Given the description of an element on the screen output the (x, y) to click on. 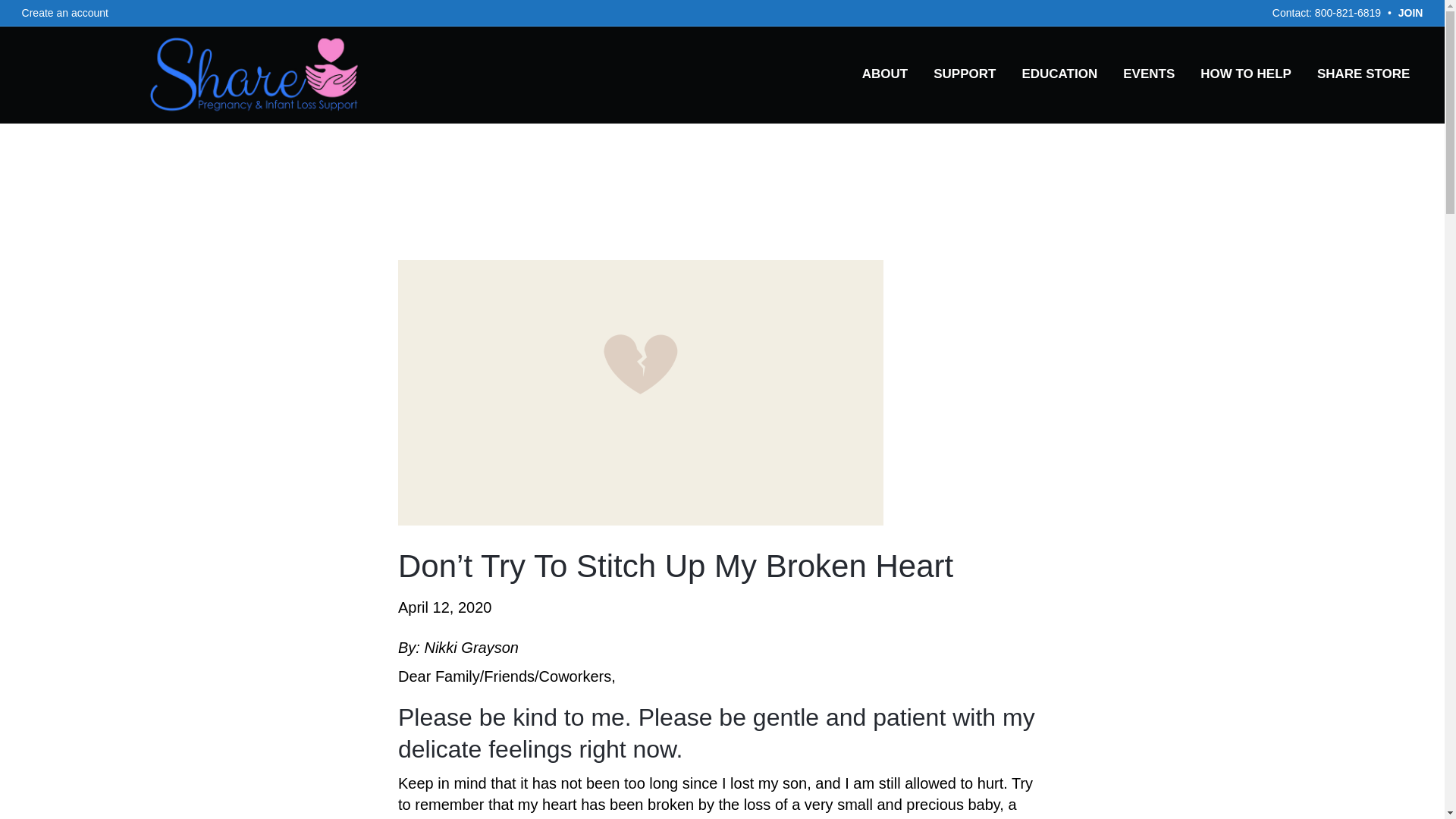
Create an account (65, 13)
SHARE STORE (1363, 74)
EDUCATION (1058, 74)
HOW TO HELP (1245, 74)
SUPPORT (964, 74)
JOIN (1410, 12)
ABOUT (885, 74)
800-821-6819 (1347, 12)
EVENTS (1148, 74)
